Given the description of an element on the screen output the (x, y) to click on. 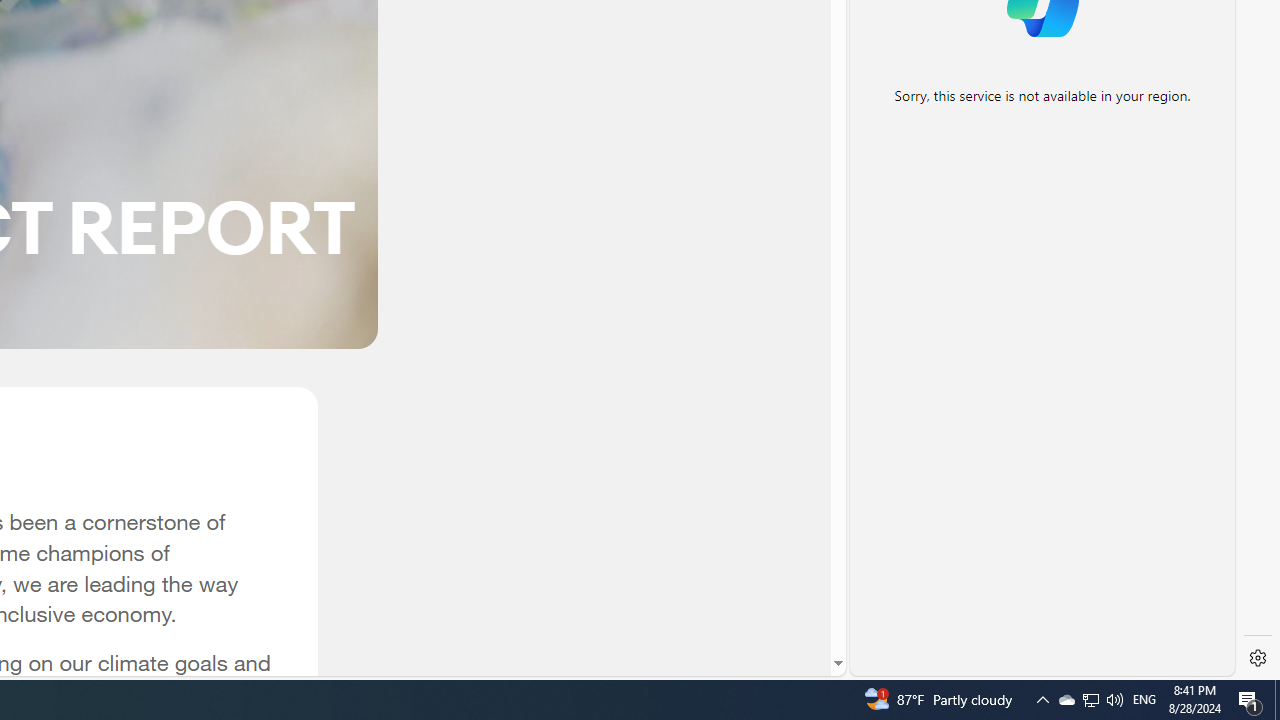
Settings (1258, 658)
